Given the description of an element on the screen output the (x, y) to click on. 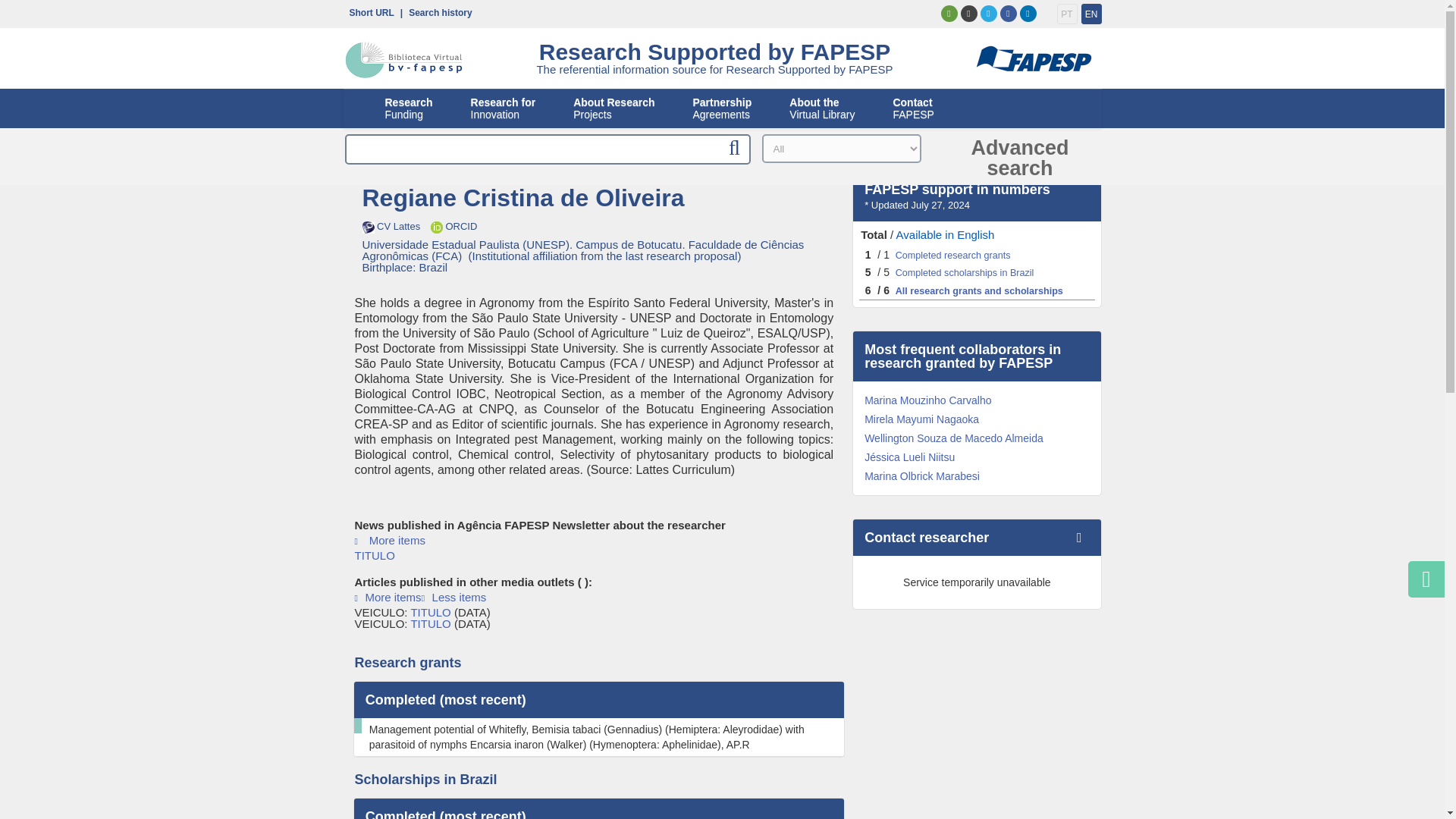
bv-cdi (403, 60)
Search history (437, 10)
URL curto (367, 10)
Short URL (367, 10)
EN (503, 107)
Email (1091, 14)
PT (948, 13)
FAPESP (1067, 14)
